Given the description of an element on the screen output the (x, y) to click on. 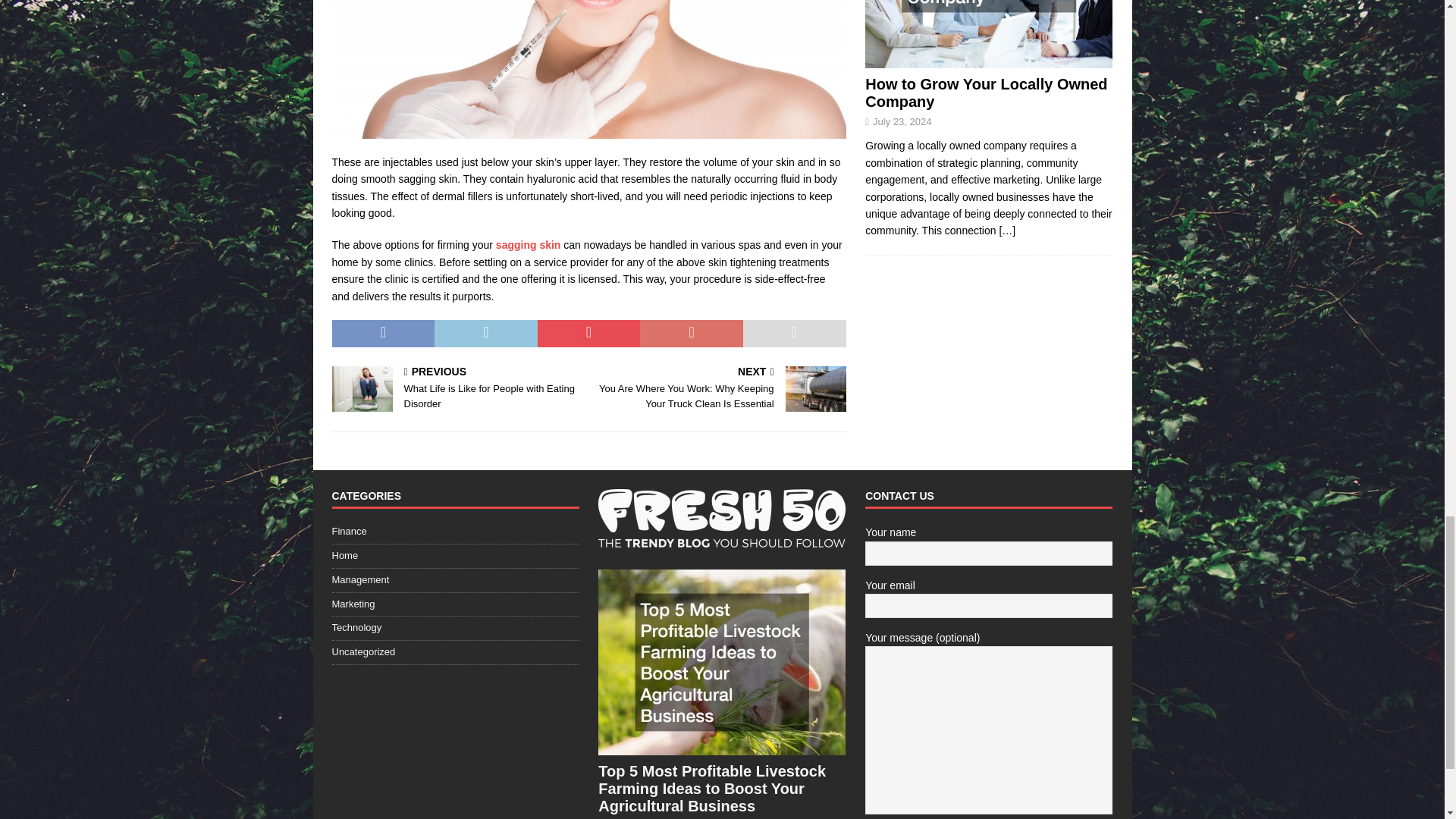
Healthline (457, 388)
sagging skin (528, 244)
